Given the description of an element on the screen output the (x, y) to click on. 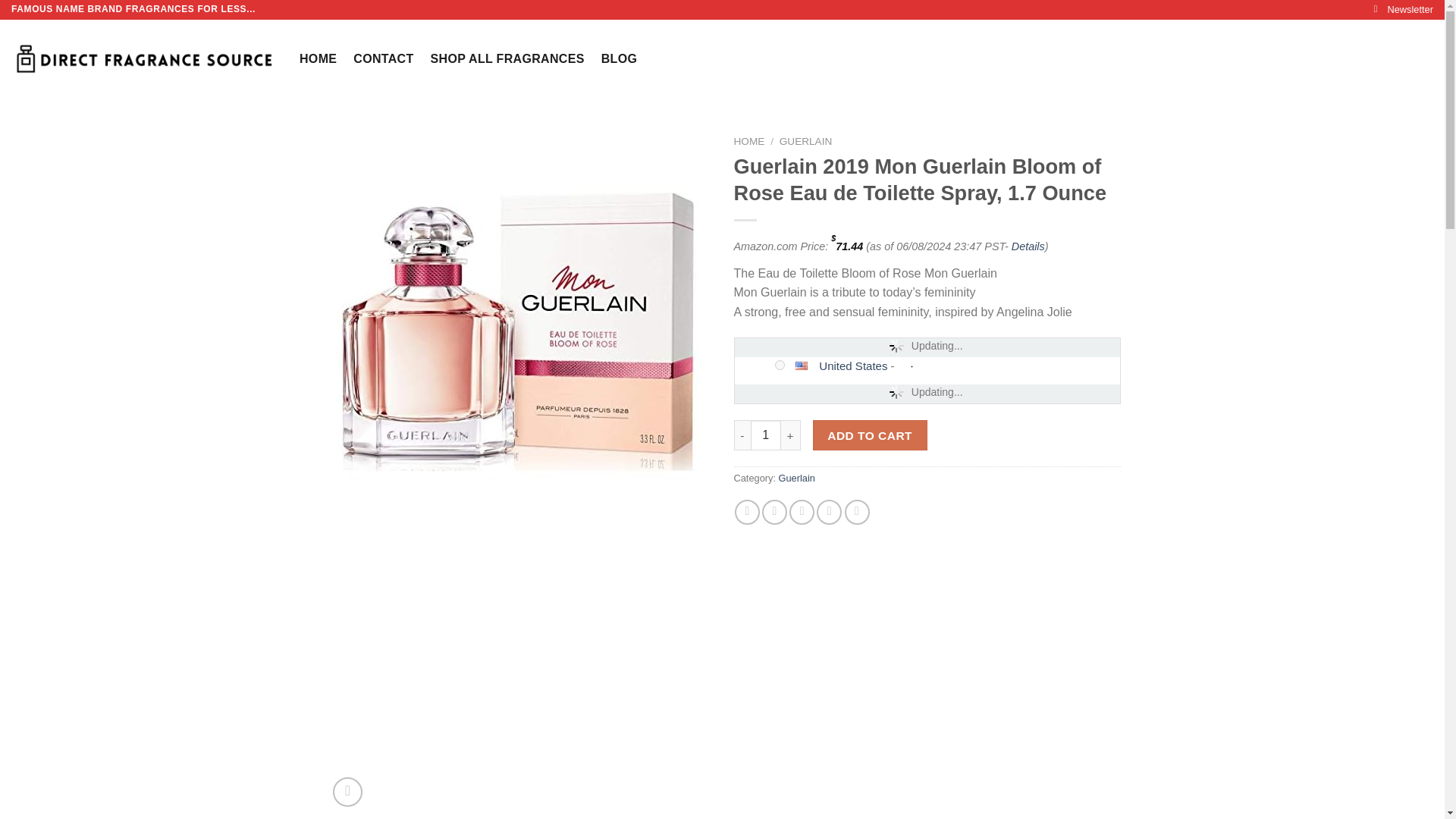
United States (806, 365)
CONTACT (383, 58)
Newsletter (1403, 9)
SHOP ALL FRAGRANCES (507, 58)
Share on Twitter (774, 511)
Guerlain (796, 478)
Sign up for Newsletter (1403, 9)
1 (765, 435)
Email to a Friend (801, 511)
HOME (317, 58)
